Given the description of an element on the screen output the (x, y) to click on. 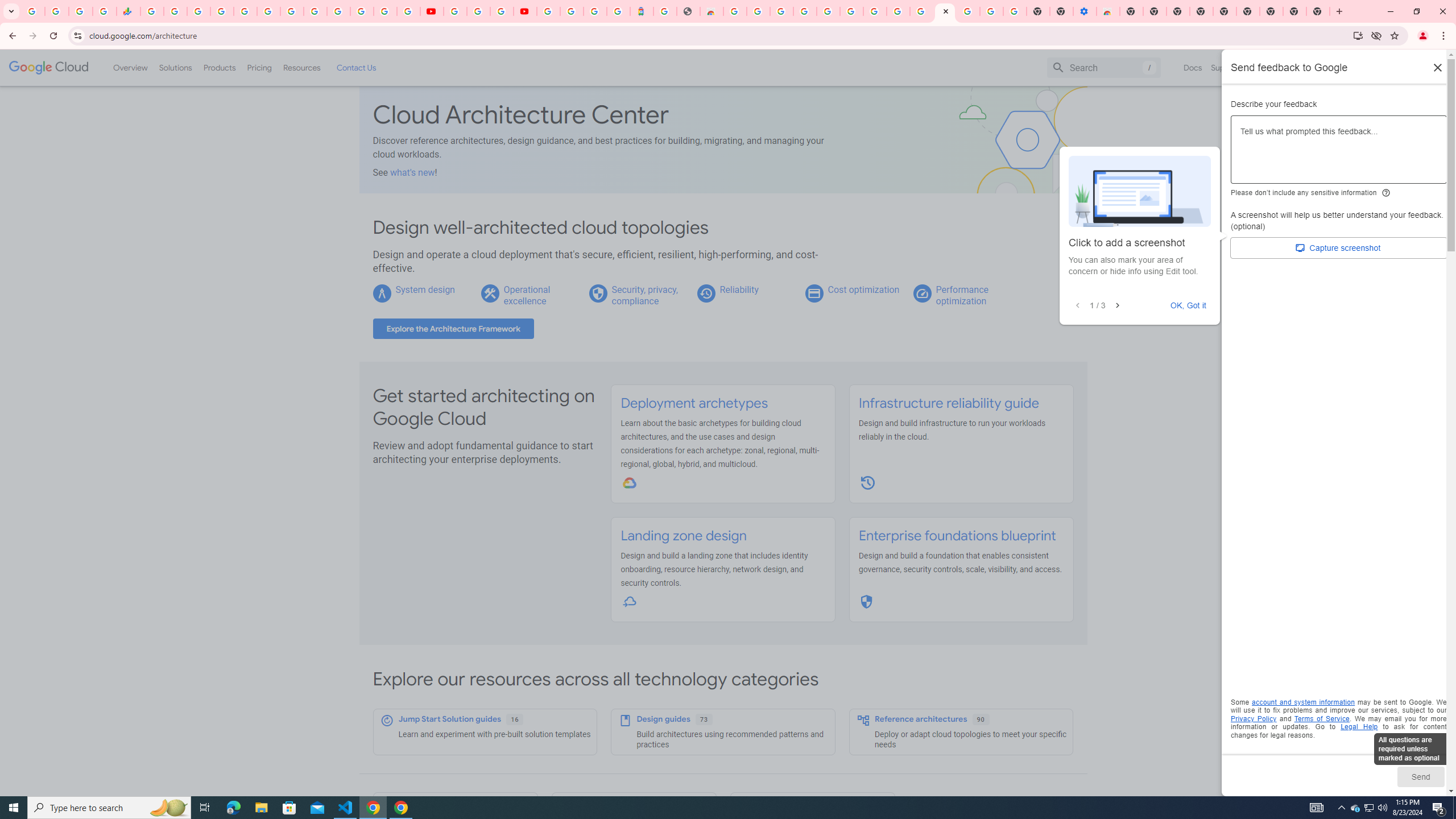
Send (1420, 776)
